Given the description of an element on the screen output the (x, y) to click on. 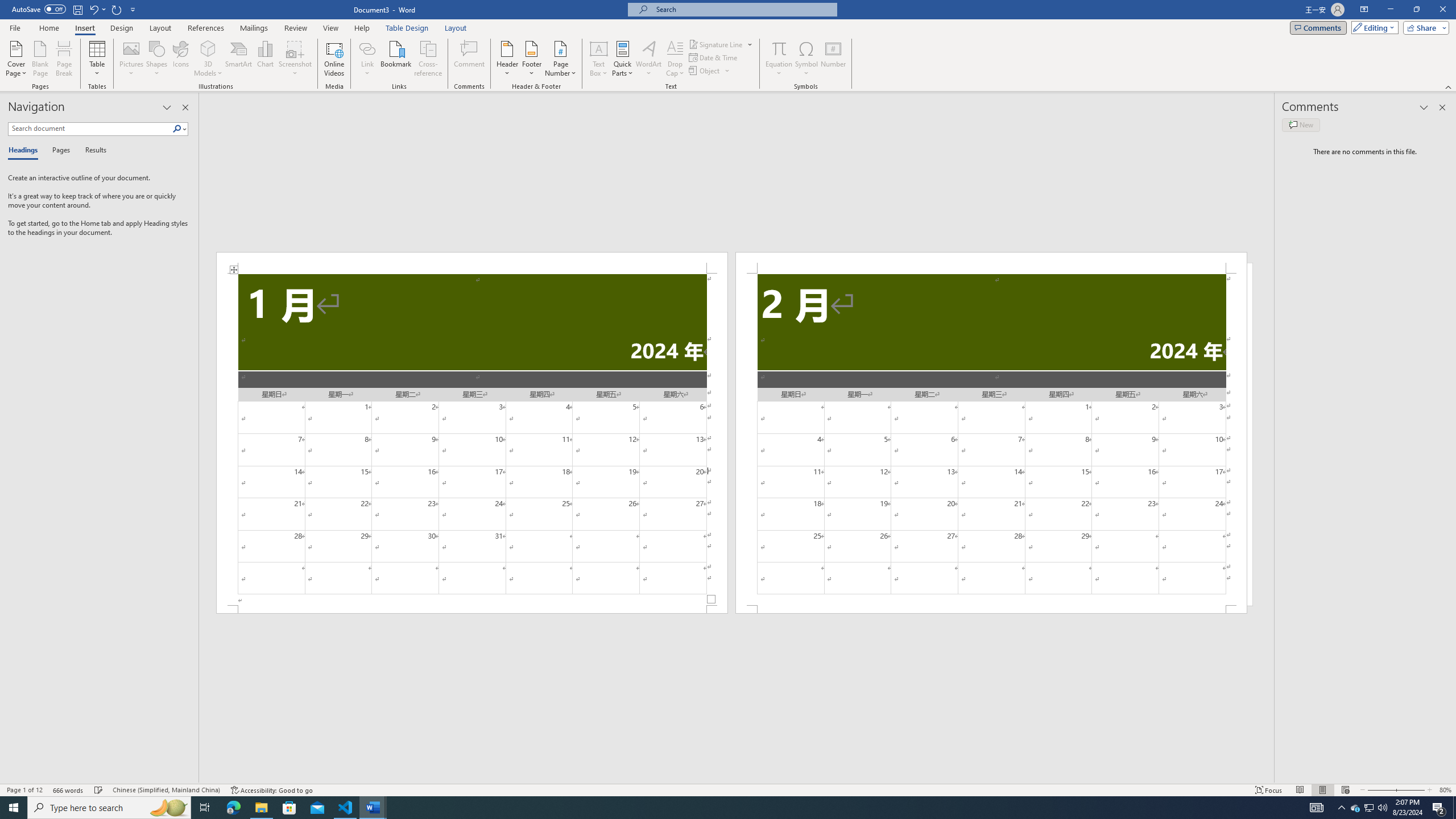
Screenshot (295, 58)
Headings (25, 150)
Read Mode (1299, 790)
Drop Cap (674, 58)
Page Break (63, 58)
Blank Page (40, 58)
Class: NetUIScrollBar (736, 778)
Date & Time... (714, 56)
Table (97, 58)
System (6, 6)
Undo Increase Indent (92, 9)
Collapse the Ribbon (1448, 86)
Mailings (253, 28)
Results (91, 150)
